Given the description of an element on the screen output the (x, y) to click on. 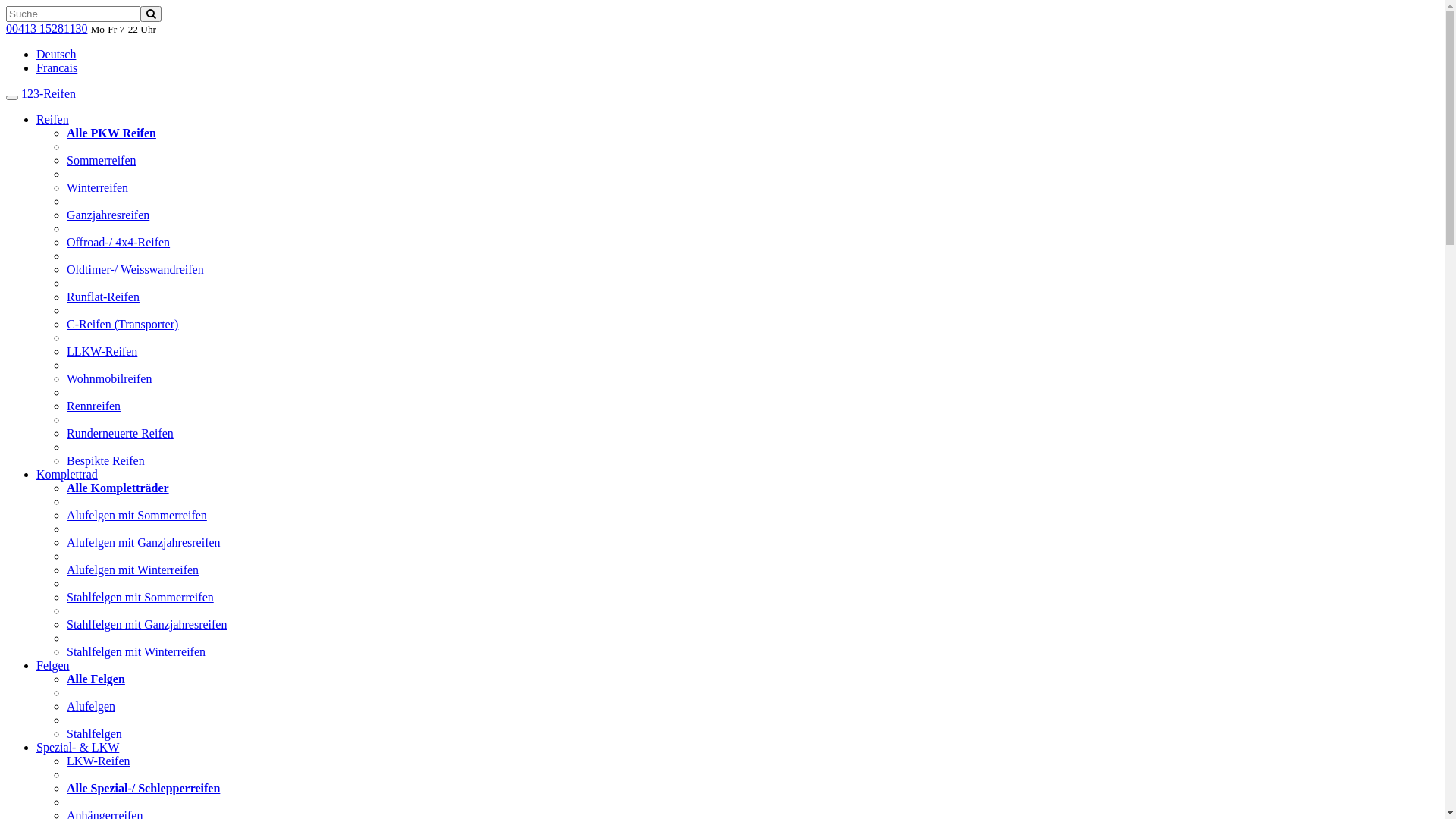
Spezial- & LKW Element type: text (77, 746)
Deutsch Element type: text (55, 53)
Oldtimer-/ Weisswandreifen Element type: text (134, 269)
Stahlfelgen mit Ganzjahresreifen Element type: text (146, 624)
Ganzjahresreifen Element type: text (107, 214)
Toggle navigation Element type: text (12, 97)
Alufelgen mit Ganzjahresreifen Element type: text (143, 542)
LKW-Reifen Element type: text (98, 760)
Stahlfelgen mit Winterreifen Element type: text (135, 651)
123-Reifen Element type: text (48, 93)
Wohnmobilreifen Element type: text (108, 378)
Alufelgen Element type: text (90, 705)
Sommerreifen Element type: text (101, 159)
Stahlfelgen mit Sommerreifen Element type: text (139, 596)
Runflat-Reifen Element type: text (102, 296)
Bespikte Reifen Element type: text (105, 460)
Rennreifen Element type: text (93, 405)
Francais Element type: text (56, 67)
Runderneuerte Reifen Element type: text (119, 432)
LLKW-Reifen Element type: text (101, 351)
Reifen Element type: text (52, 118)
Winterreifen Element type: text (97, 187)
Alle PKW Reifen Element type: text (111, 132)
00413 15281130 Element type: text (46, 27)
Felgen Element type: text (52, 664)
Alufelgen mit Winterreifen Element type: text (132, 569)
Komplettrad Element type: text (66, 473)
Stahlfelgen Element type: text (94, 733)
C-Reifen (Transporter) Element type: text (122, 323)
Offroad-/ 4x4-Reifen Element type: text (117, 241)
Alufelgen mit Sommerreifen Element type: text (136, 514)
Alle Spezial-/ Schlepperreifen Element type: text (142, 787)
Alle Felgen Element type: text (95, 678)
